Given the description of an element on the screen output the (x, y) to click on. 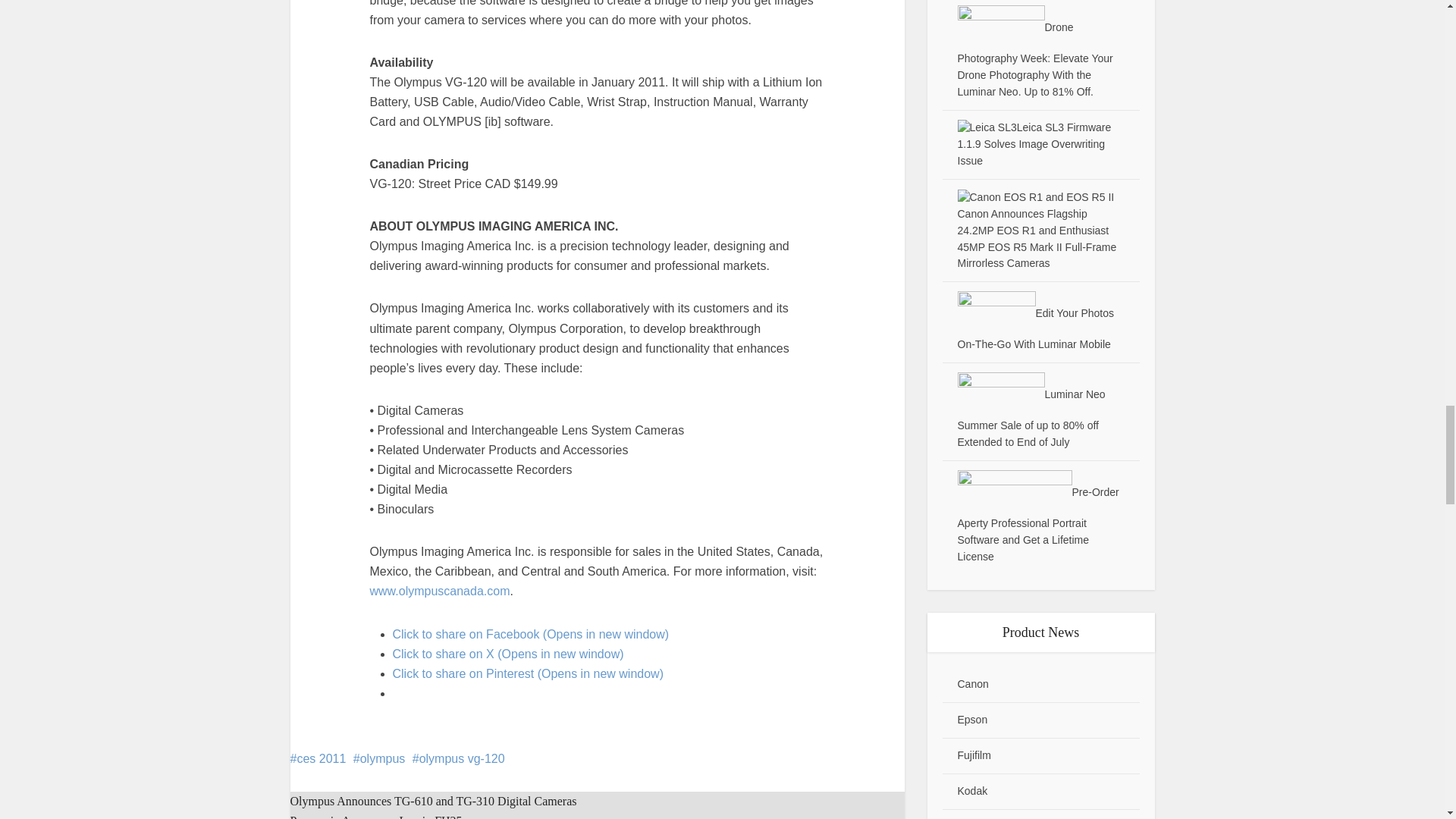
Olympus Announces TG-610 and TG-310 Digital Cameras (432, 800)
olympus (378, 758)
Panasonic Announces Lumix FH25 (375, 816)
Click to share on Pinterest (528, 673)
www.olympuscanada.com (440, 590)
Click to share on Facebook (531, 634)
Click to share on X (508, 653)
ces 2011 (317, 758)
olympus vg-120 (458, 758)
